Given the description of an element on the screen output the (x, y) to click on. 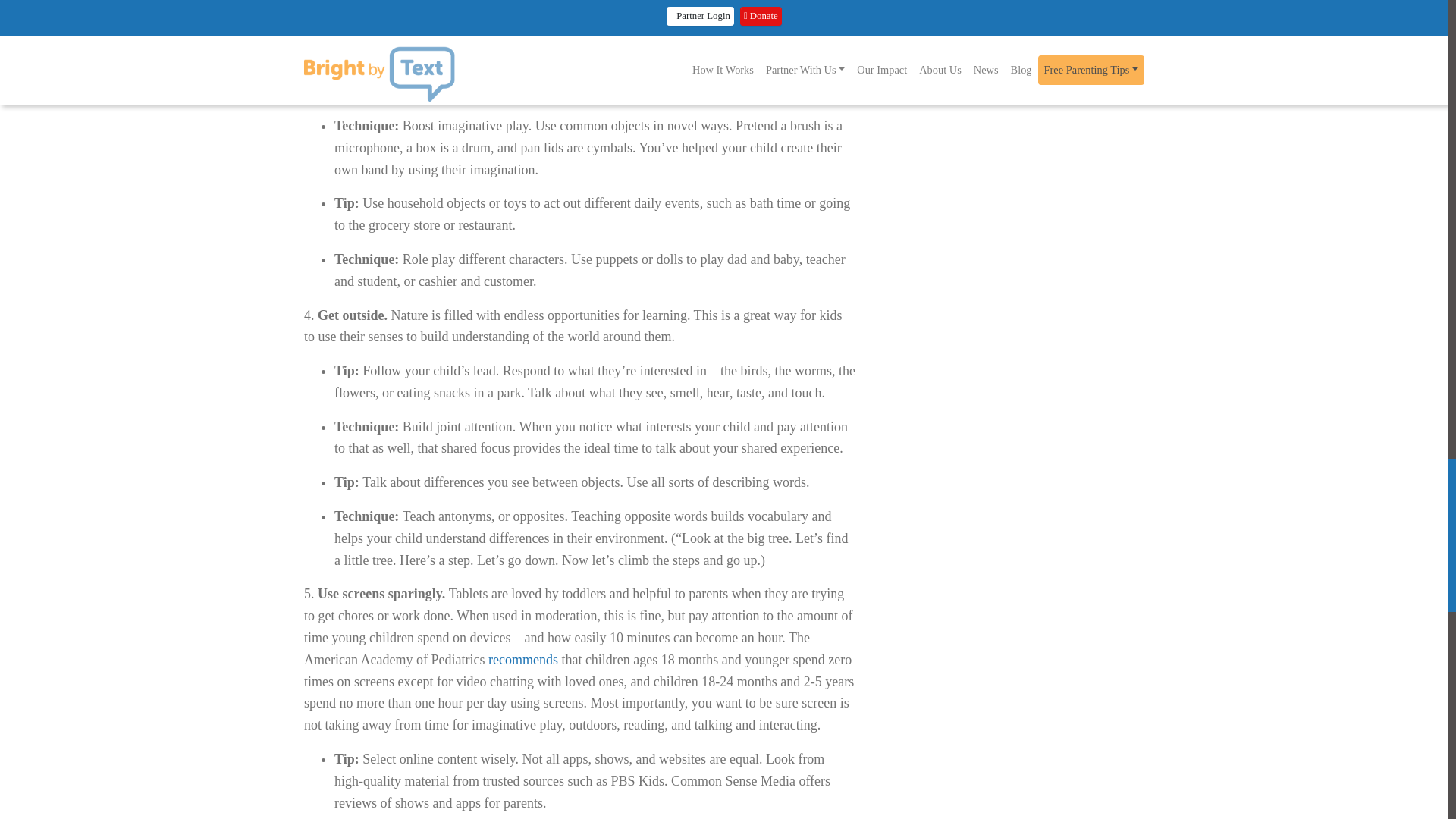
recommends (522, 659)
